Given the description of an element on the screen output the (x, y) to click on. 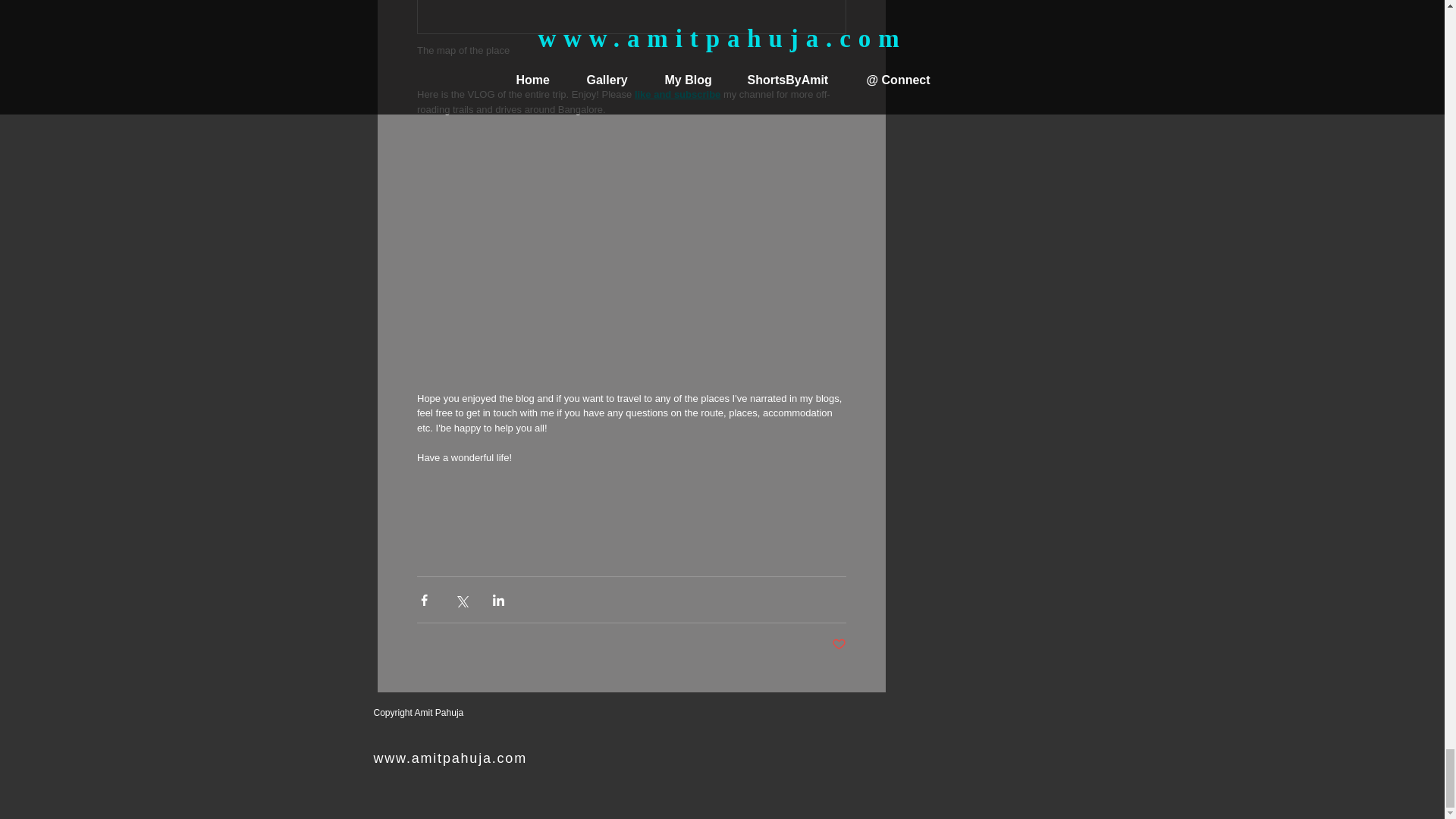
Post not marked as liked (838, 644)
